Given the description of an element on the screen output the (x, y) to click on. 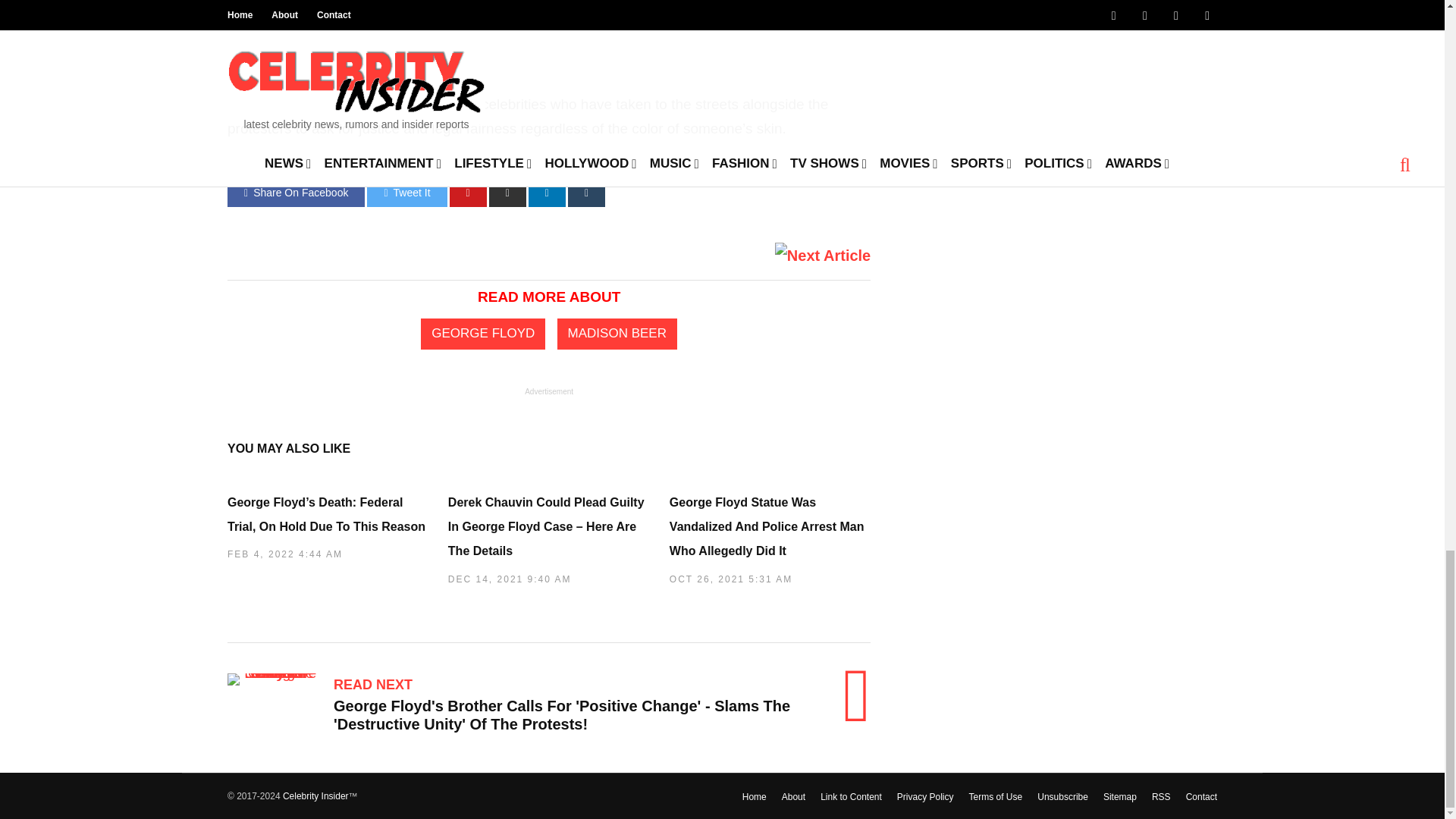
Share On Tumblr (586, 193)
Share On Reddit (507, 193)
Share On Twitter (406, 193)
Share On Facebook (296, 193)
Share On Pinterest (467, 193)
Share On Linkedin (547, 193)
